Given the description of an element on the screen output the (x, y) to click on. 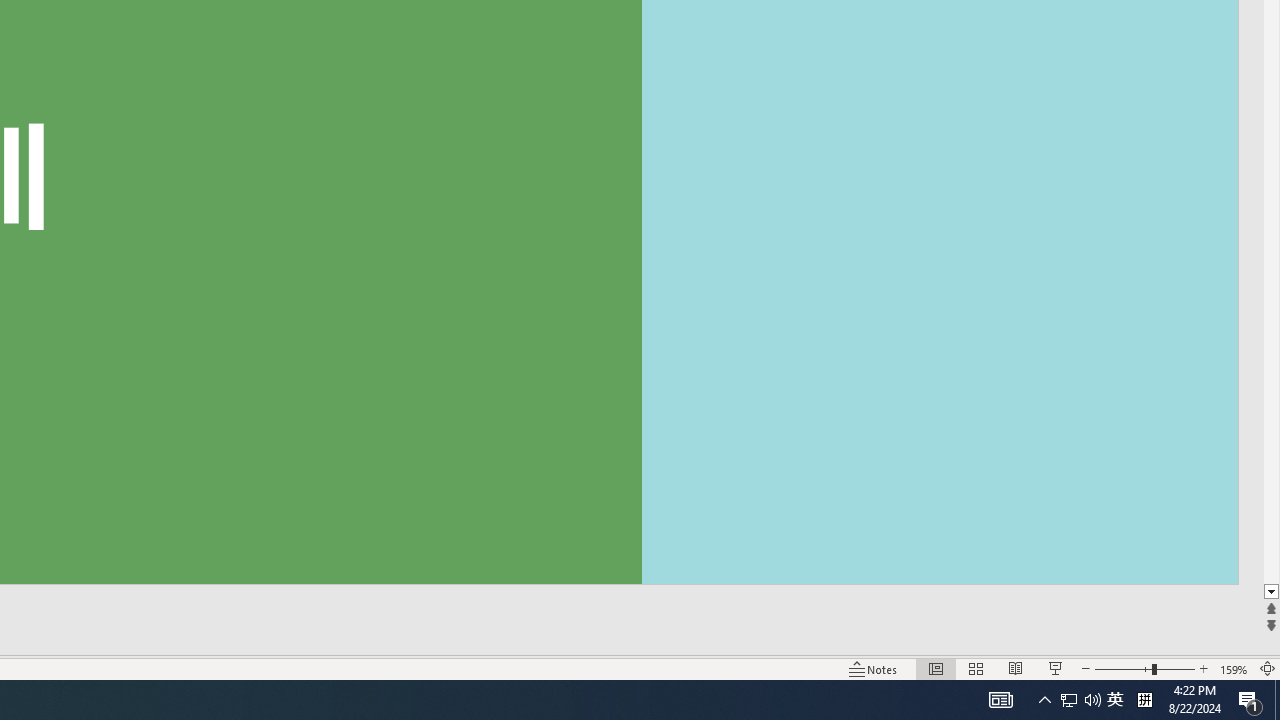
Zoom 159% (1234, 668)
